Given the description of an element on the screen output the (x, y) to click on. 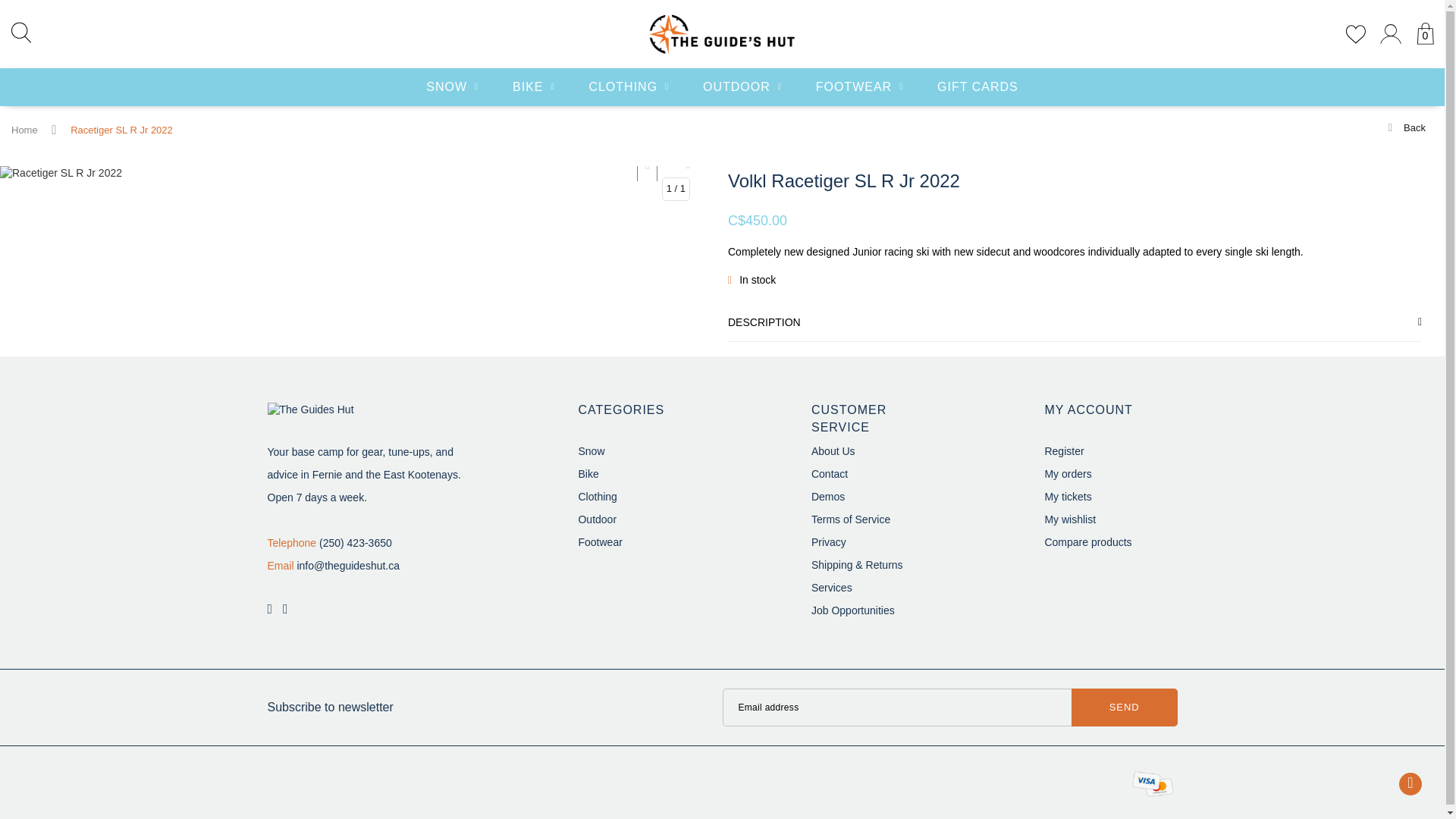
My tickets (1066, 496)
My wishlist (1069, 519)
My orders (1066, 473)
Subscribe (1124, 707)
Register (1063, 451)
Home (24, 130)
Gift Cards (977, 86)
